Given the description of an element on the screen output the (x, y) to click on. 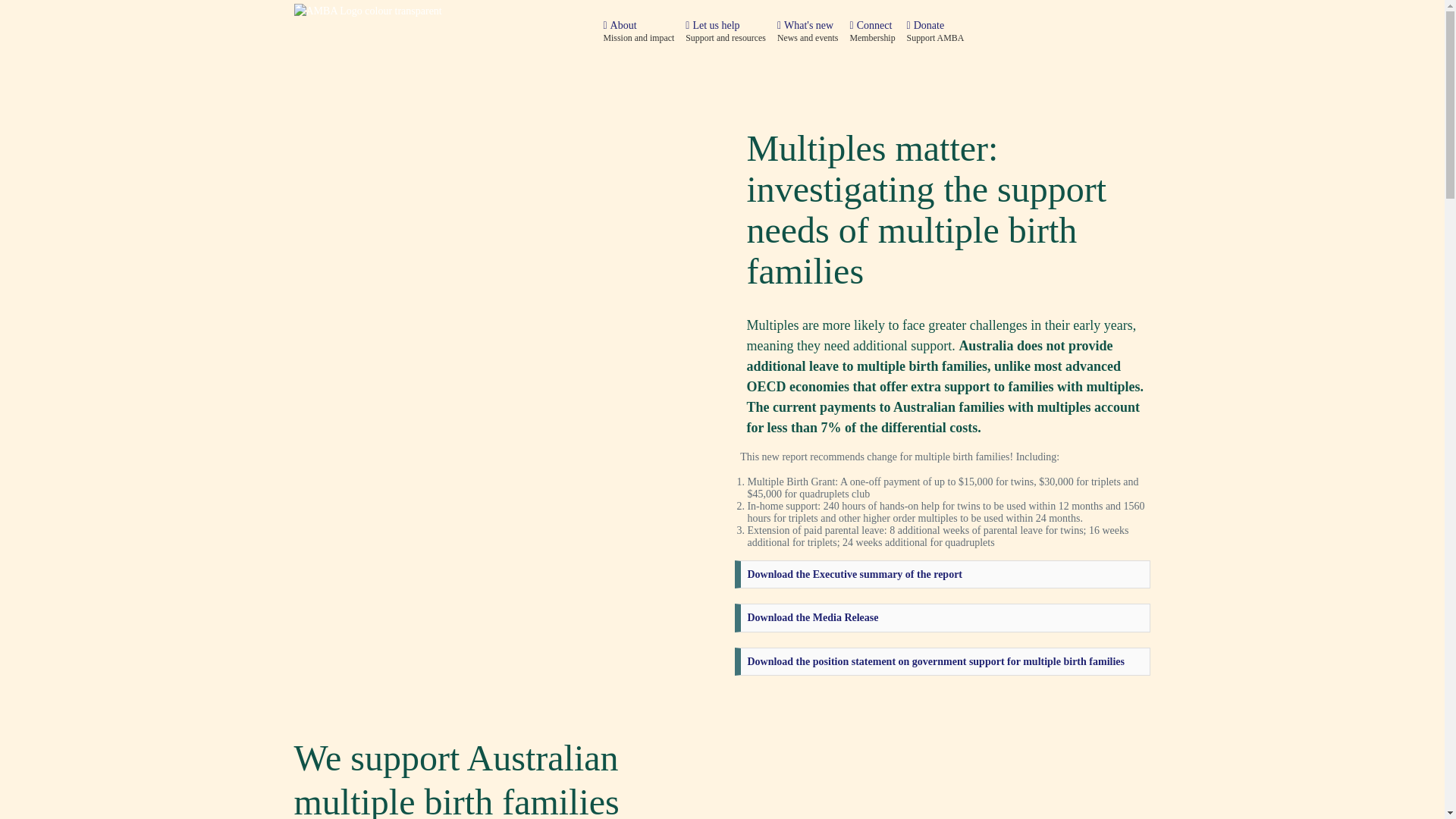
Download the Media Release Element type: text (812, 617)
Download the Executive summary of the report Element type: text (854, 574)
